Given the description of an element on the screen output the (x, y) to click on. 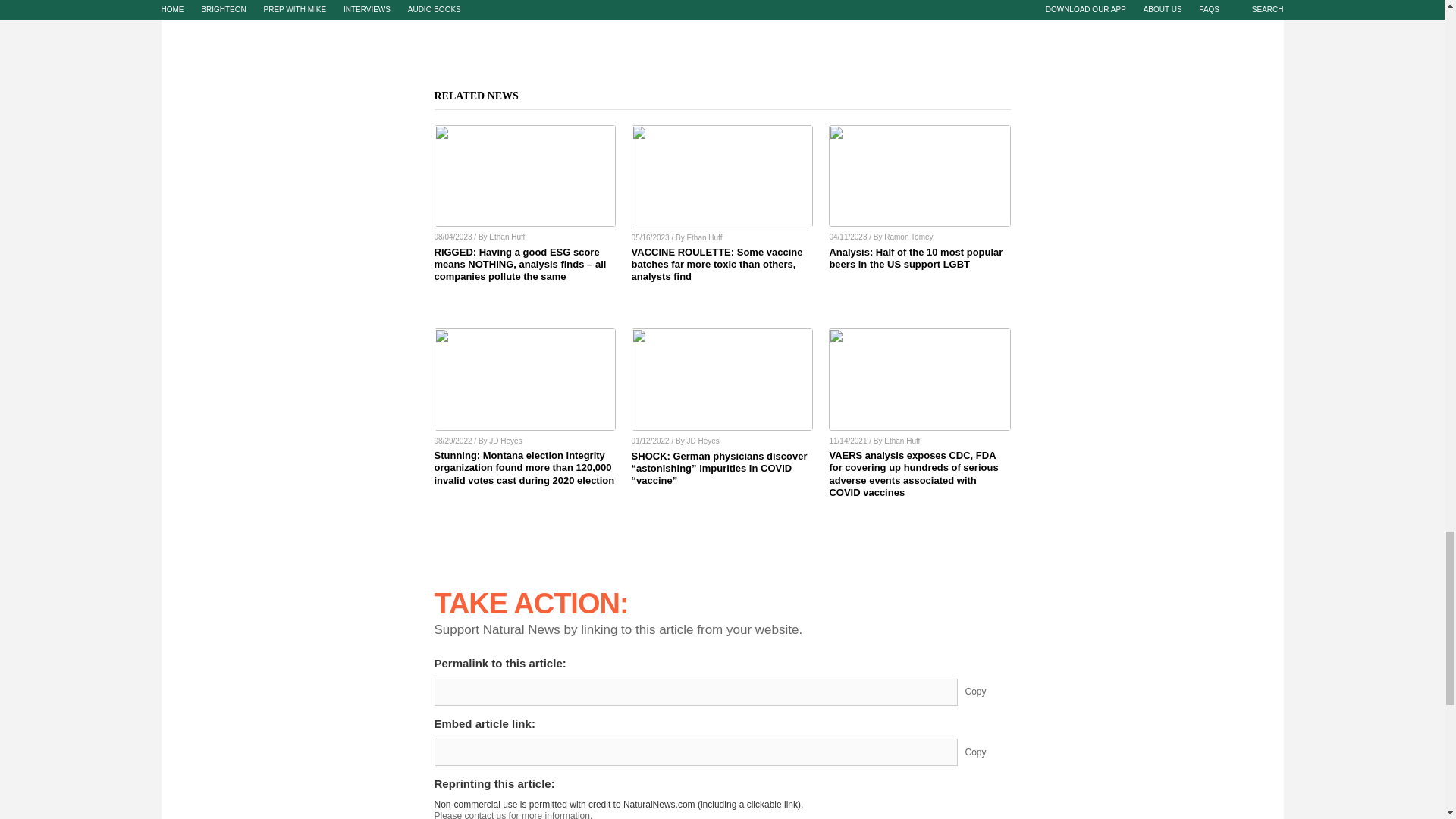
Copy Embed Link (986, 751)
Copy Permalink (986, 691)
